Given the description of an element on the screen output the (x, y) to click on. 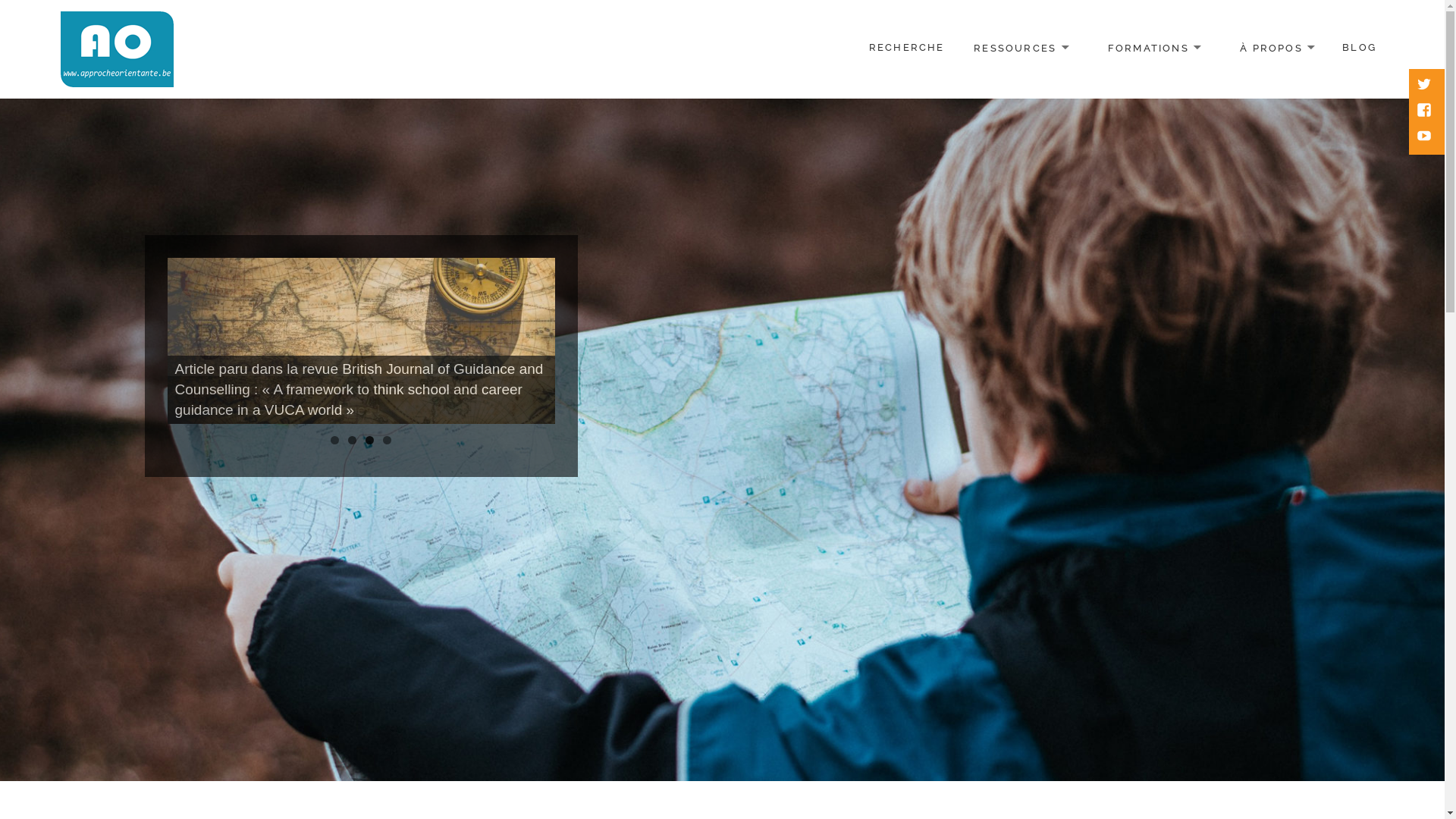
1 Element type: text (334, 440)
Twitter Element type: text (1425, 85)
3 Element type: text (369, 440)
RECHERCHE Element type: text (906, 48)
Facebook Element type: text (1425, 111)
4 Element type: text (386, 440)
RESSOURCES Element type: text (1020, 48)
pexels-ylanite-koppens-697662 Element type: hover (360, 340)
Approche Orientante Element type: text (161, 99)
BLOG Element type: text (1359, 48)
2 Element type: text (352, 440)
FORMATIONS Element type: text (1153, 48)
Youtube Element type: text (1425, 137)
